Given the description of an element on the screen output the (x, y) to click on. 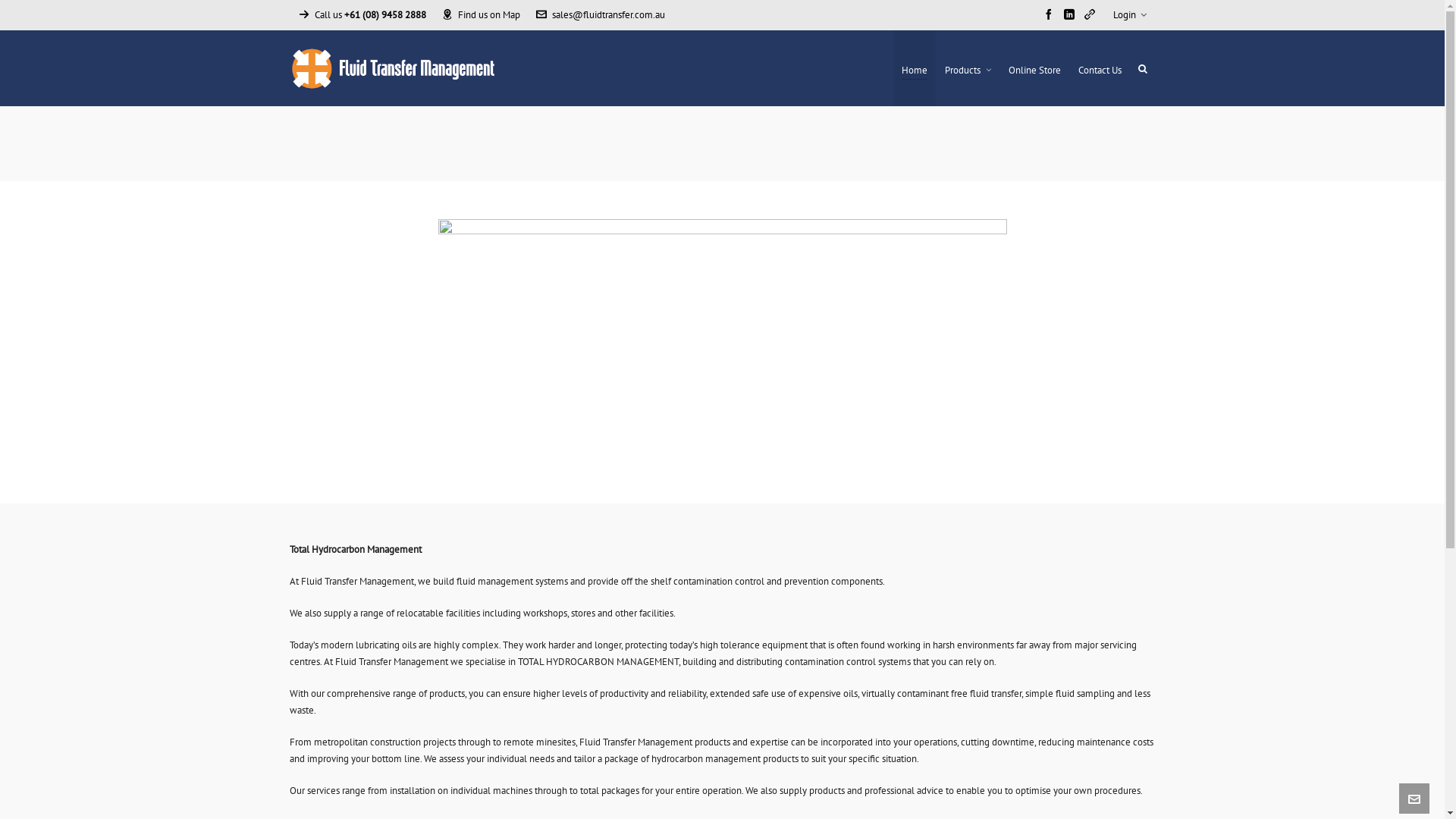
Login Element type: text (1129, 15)
Online Store Element type: text (1033, 68)
sales@fluidtransfer.com.au Element type: text (592, 628)
EP Motorsport Element type: text (1127, 799)
Home Element type: text (914, 68)
Products Element type: text (966, 68)
sales@fluidtransfer.com.au Element type: text (599, 15)
Find us on Map Element type: text (480, 15)
Contact Us Element type: text (1099, 68)
+61 (08) 9458 2888 Element type: text (577, 586)
Home Element type: text (1078, 799)
